Given the description of an element on the screen output the (x, y) to click on. 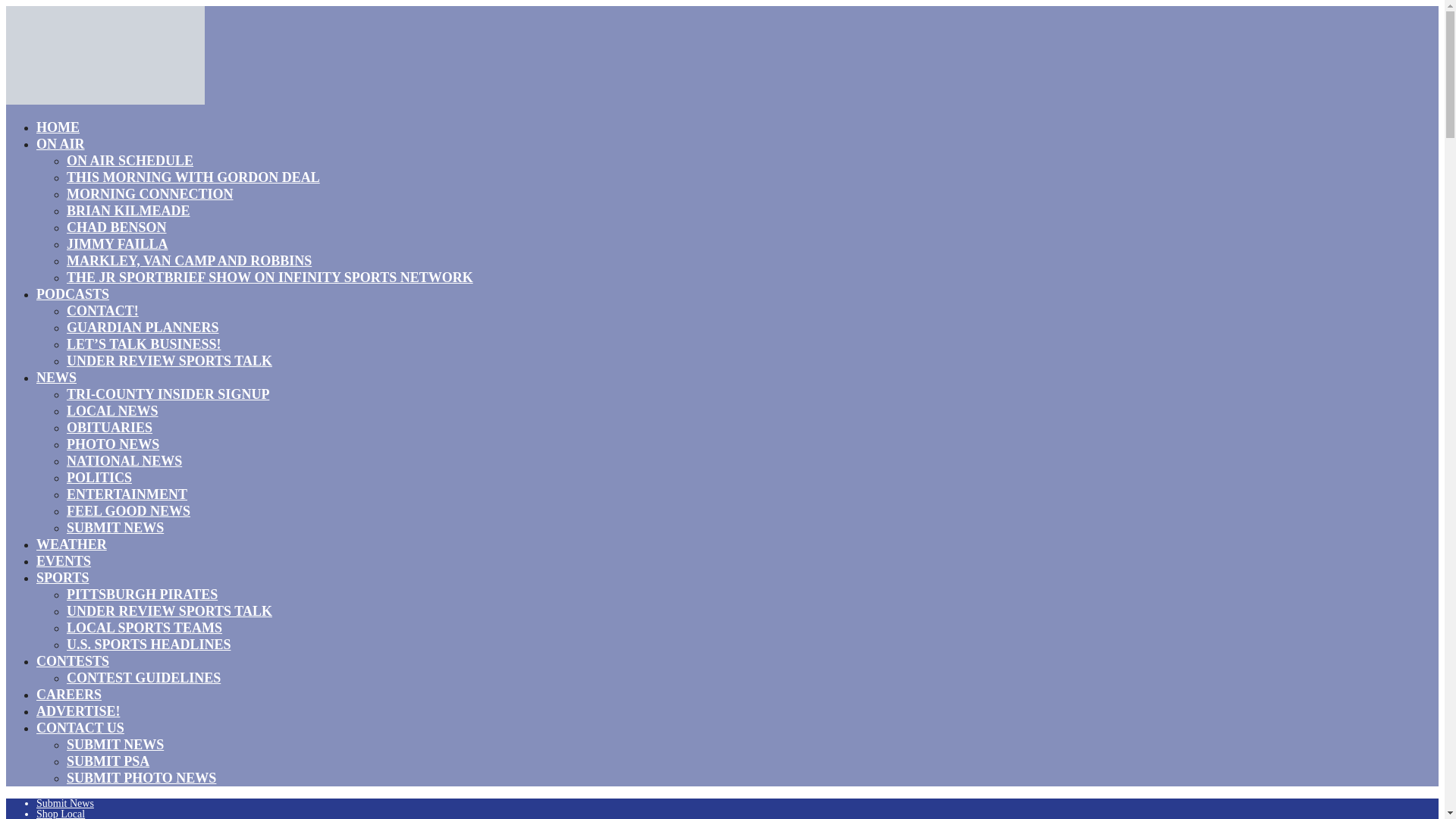
SUBMIT NEWS (114, 527)
HOME (58, 127)
FEEL GOOD NEWS (128, 510)
THIS MORNING WITH GORDON DEAL (193, 177)
SPORTS (62, 577)
SUBMIT NEWS (114, 744)
ENTERTAINMENT (126, 494)
CHAD BENSON (116, 227)
EVENTS (63, 560)
PITTSBURGH PIRATES (141, 594)
